Given the description of an element on the screen output the (x, y) to click on. 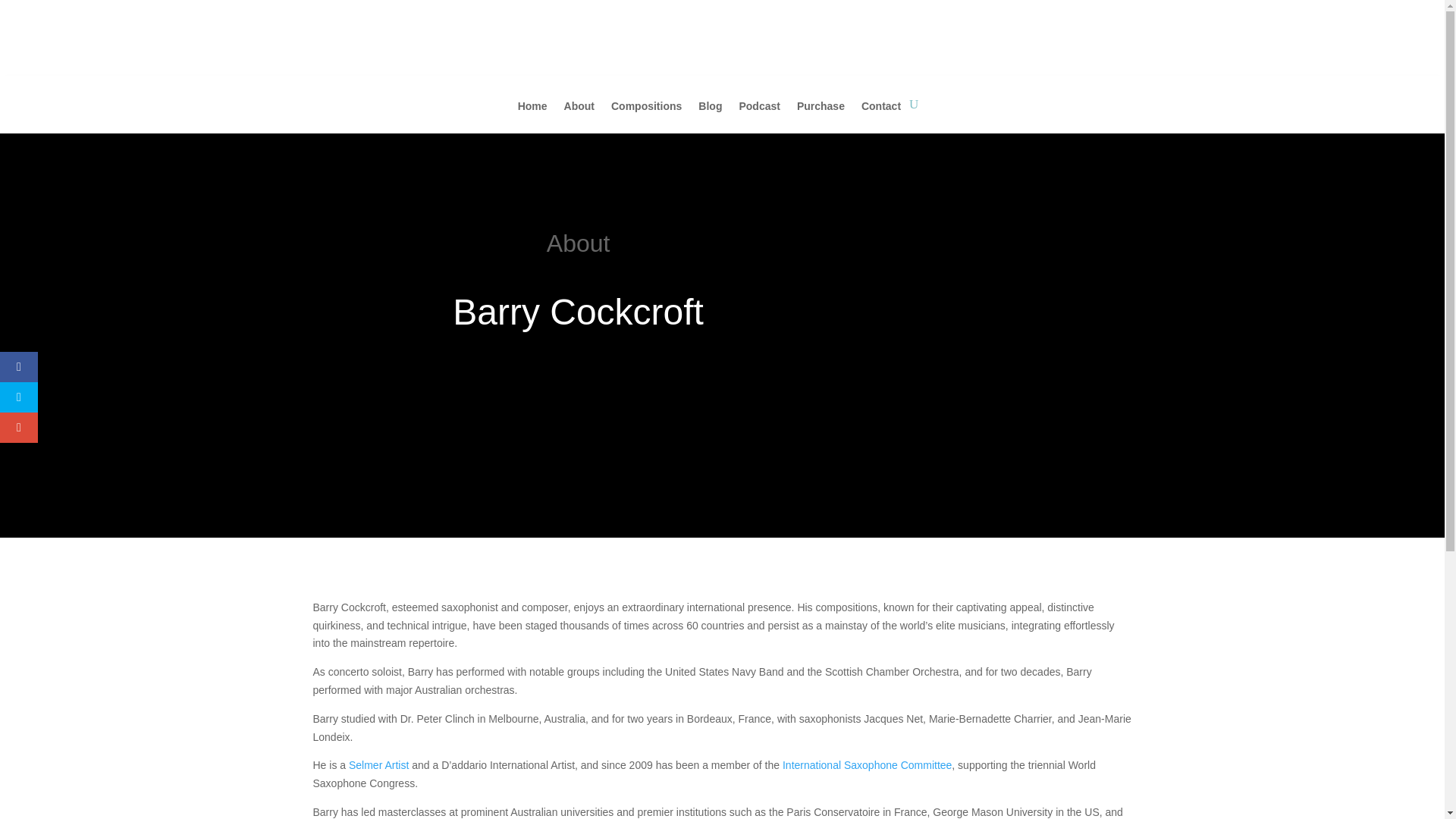
Podcast (758, 116)
Purchase (820, 116)
Selmer Artist (379, 765)
Contact (881, 116)
International Saxophone Committee (867, 765)
About (579, 116)
Compositions (646, 116)
Home (532, 116)
